Given the description of an element on the screen output the (x, y) to click on. 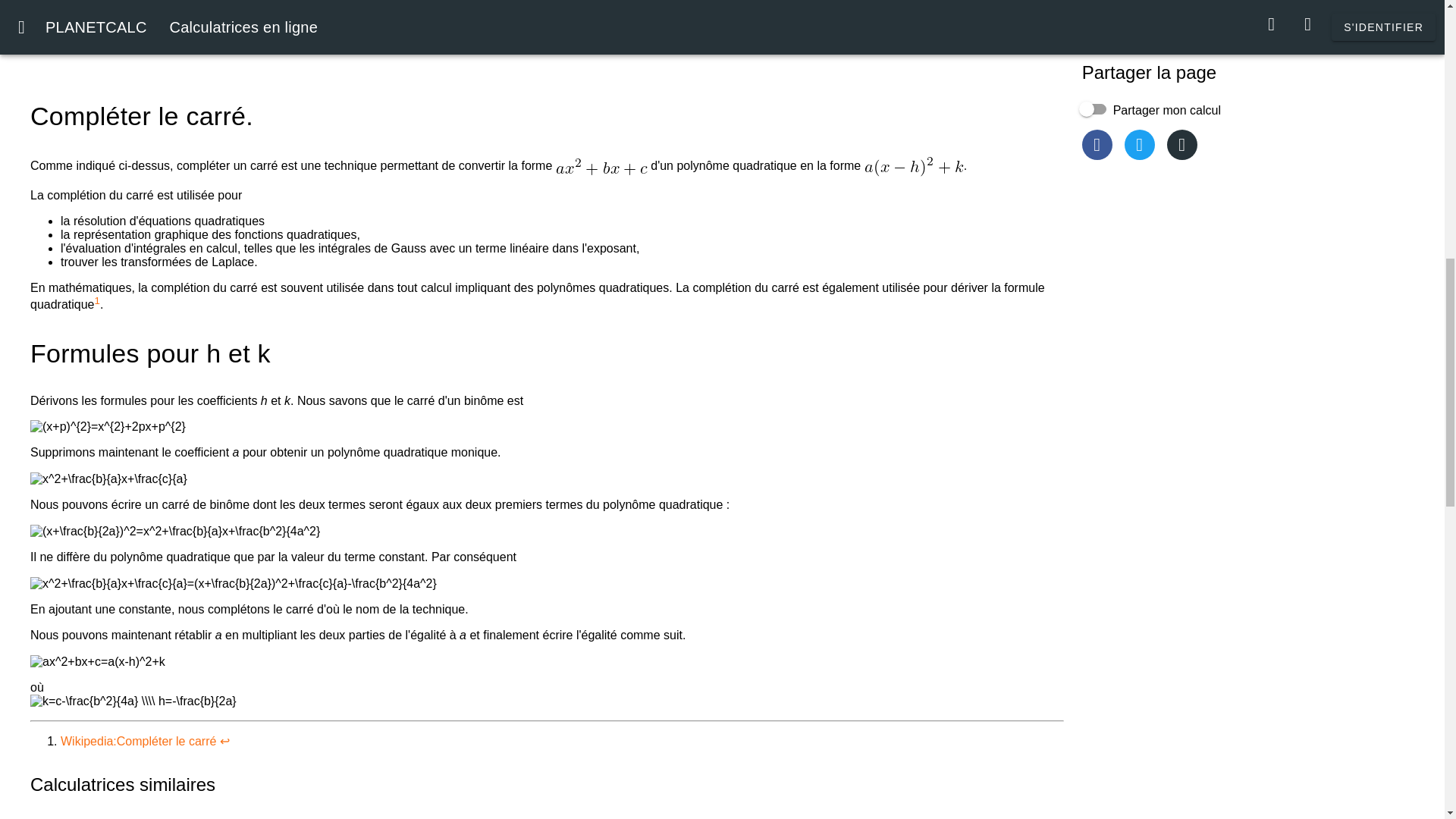
1 (97, 300)
